Given the description of an element on the screen output the (x, y) to click on. 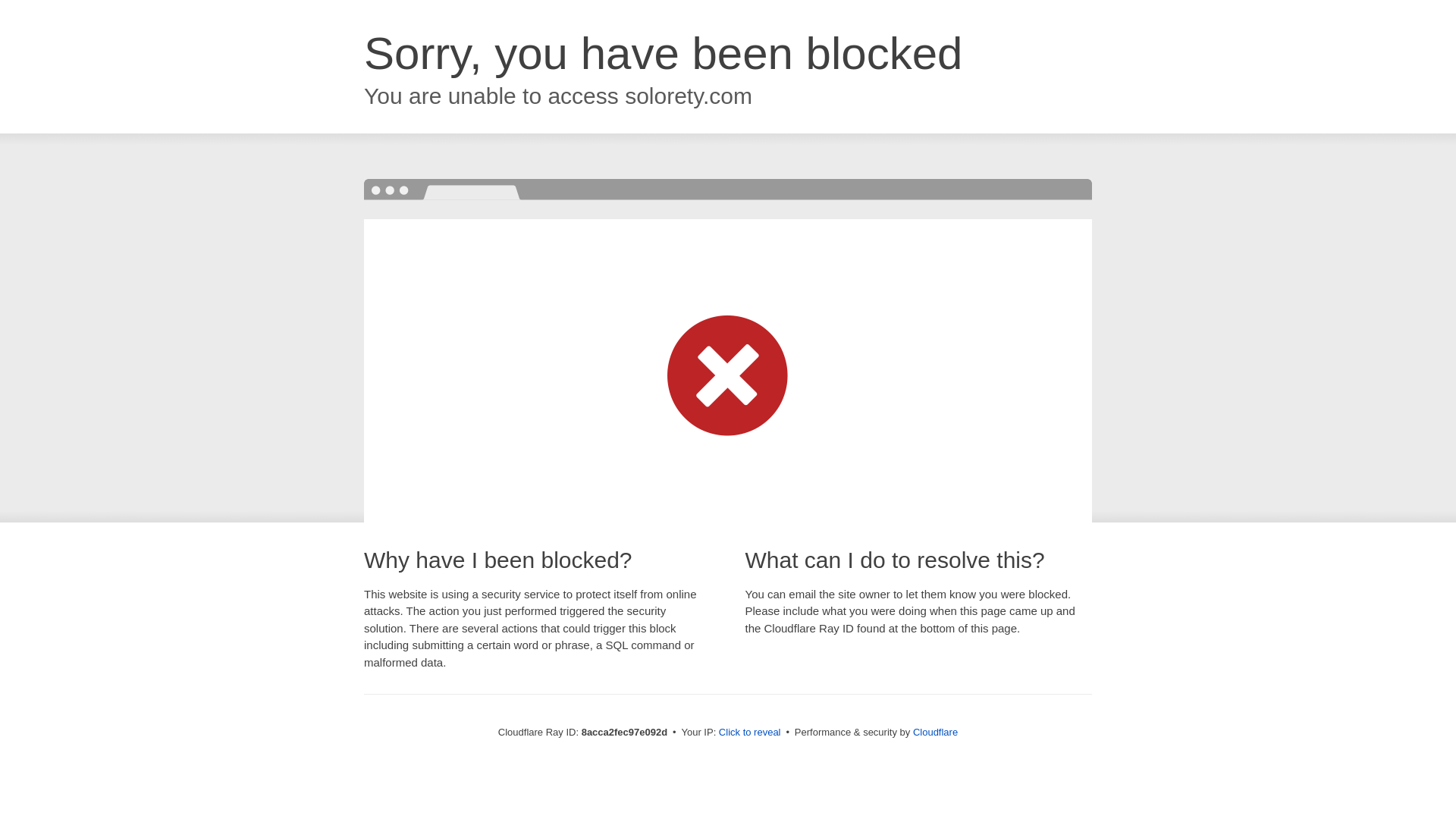
Cloudflare (935, 731)
Click to reveal (749, 732)
